Given the description of an element on the screen output the (x, y) to click on. 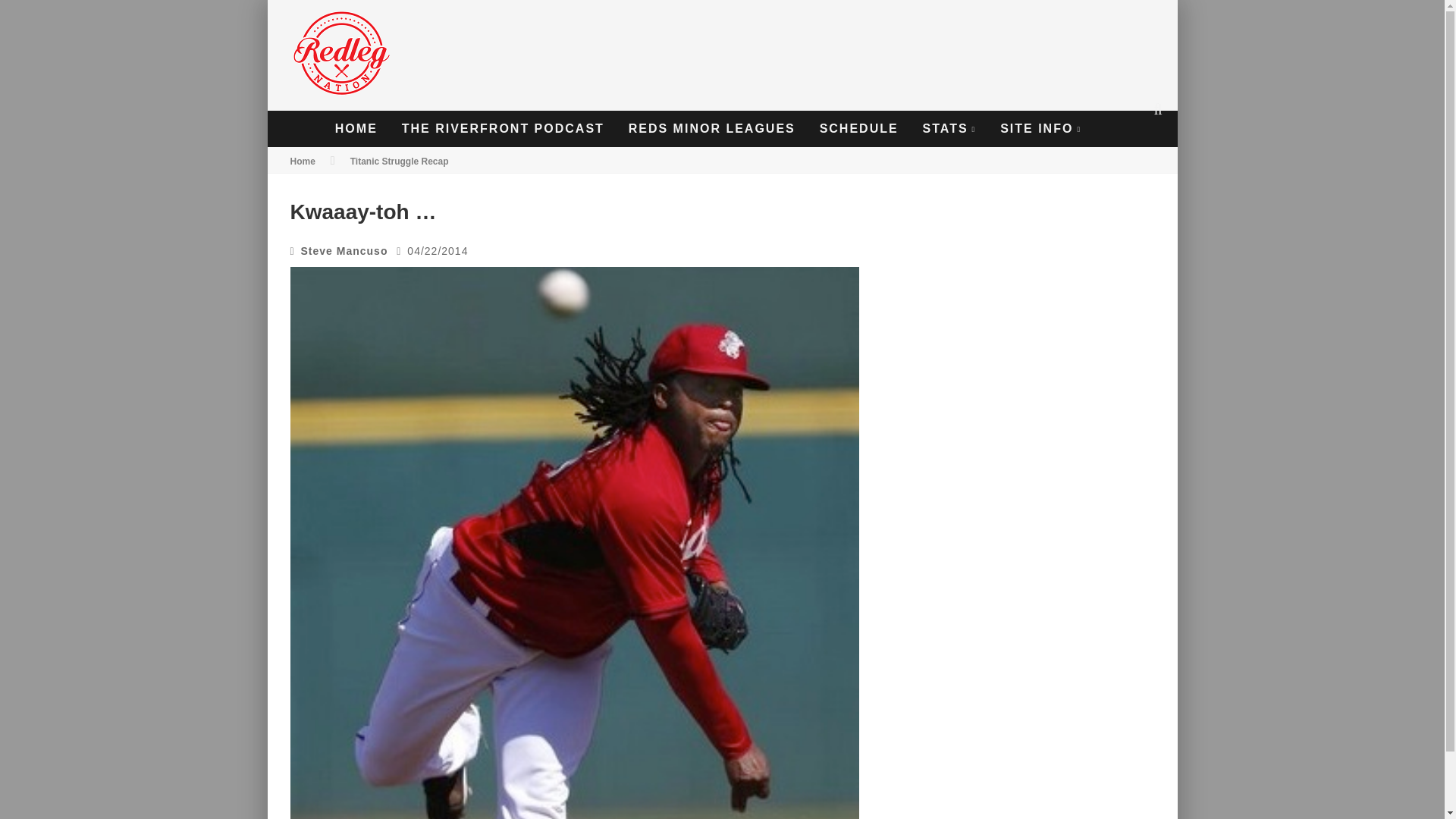
HOME (355, 128)
SITE INFO (1040, 128)
Steve Mancuso (344, 250)
SCHEDULE (859, 128)
Home (301, 161)
View all posts in Titanic Struggle Recap (399, 161)
THE RIVERFRONT PODCAST (502, 128)
Titanic Struggle Recap (399, 161)
STATS (949, 128)
REDS MINOR LEAGUES (711, 128)
